Given the description of an element on the screen output the (x, y) to click on. 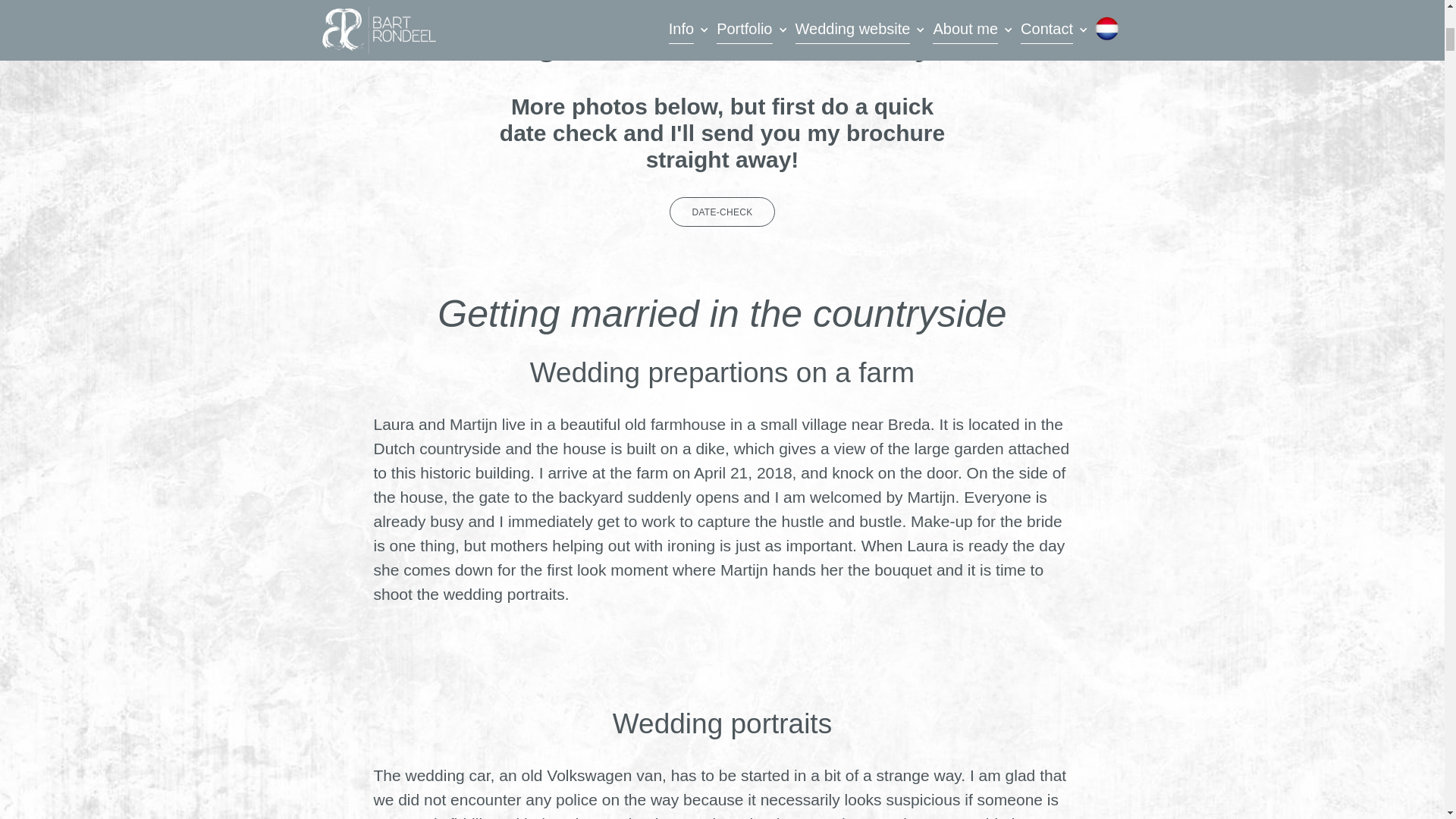
DATE-CHECK (721, 211)
